Given the description of an element on the screen output the (x, y) to click on. 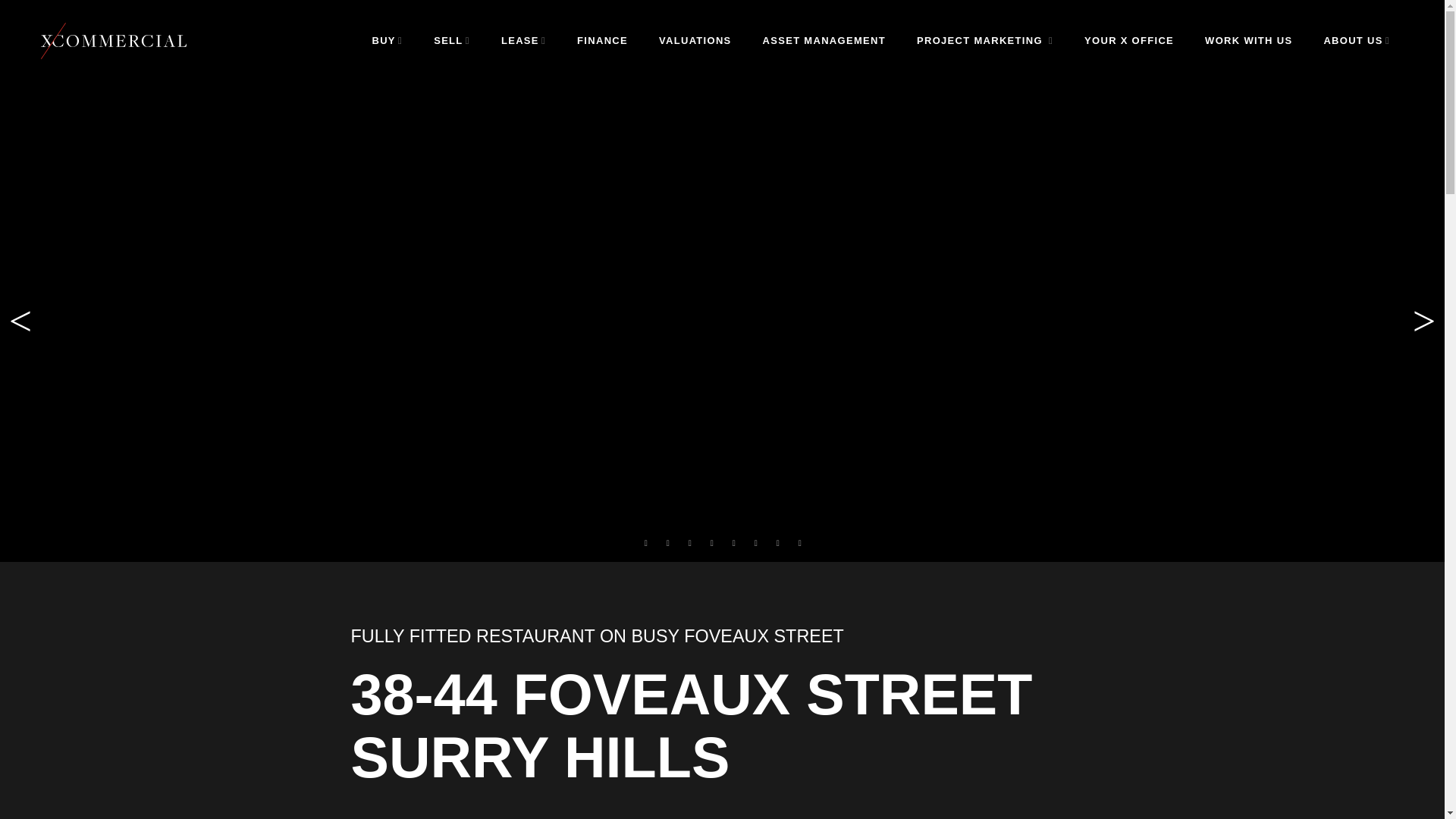
PROJECT MARKETING (984, 40)
BUY (387, 40)
FINANCE (602, 40)
Send Message (722, 369)
YOUR X OFFICE (1129, 40)
VALUATIONS (695, 40)
WORK WITH US (1248, 40)
ABOUT US (1355, 40)
SELL (451, 40)
LEASE (523, 40)
ASSET MANAGEMENT (824, 40)
